Given the description of an element on the screen output the (x, y) to click on. 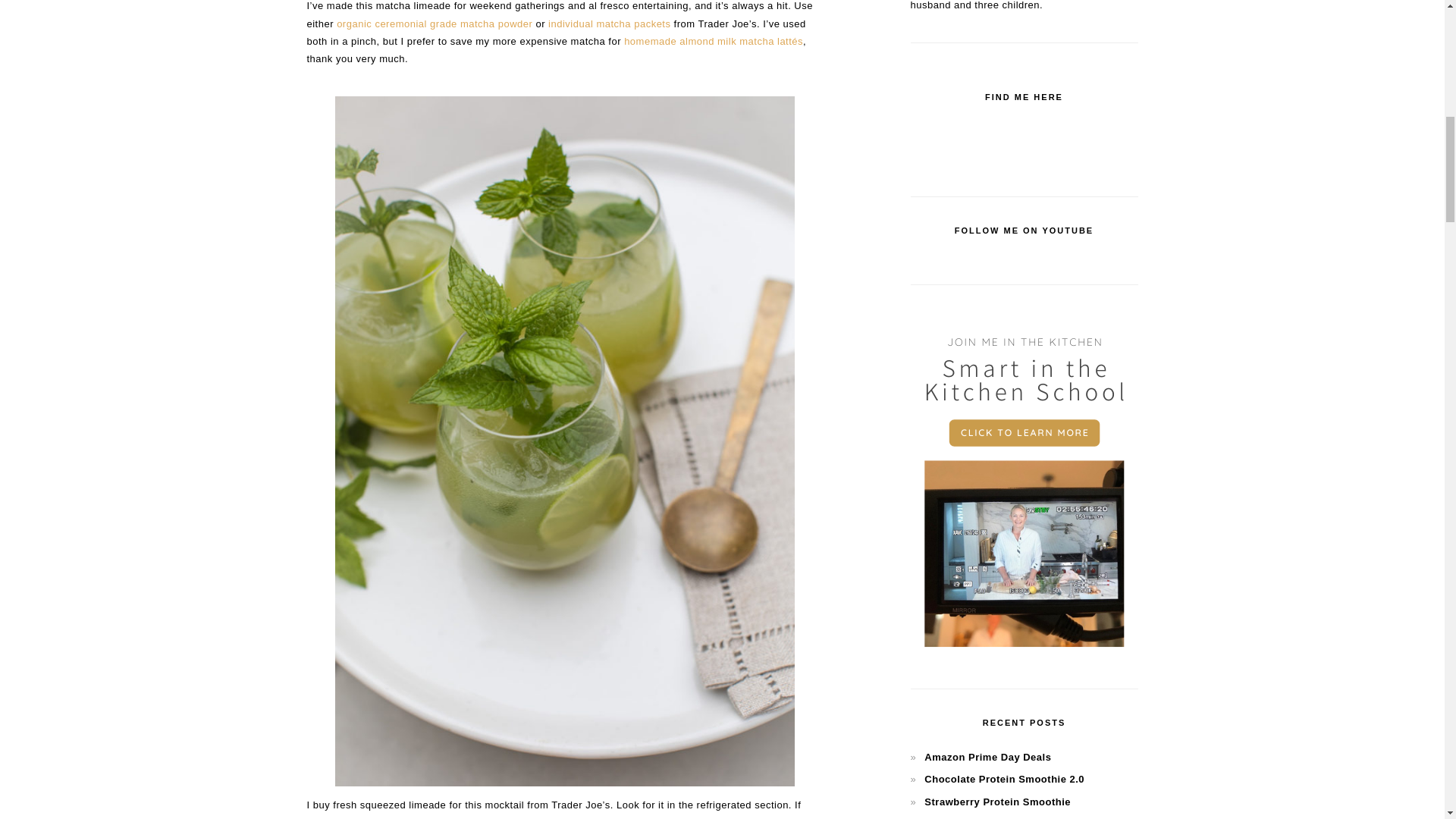
individual matcha packets (609, 23)
organic ceremonial grade matcha powder (434, 23)
